Given the description of an element on the screen output the (x, y) to click on. 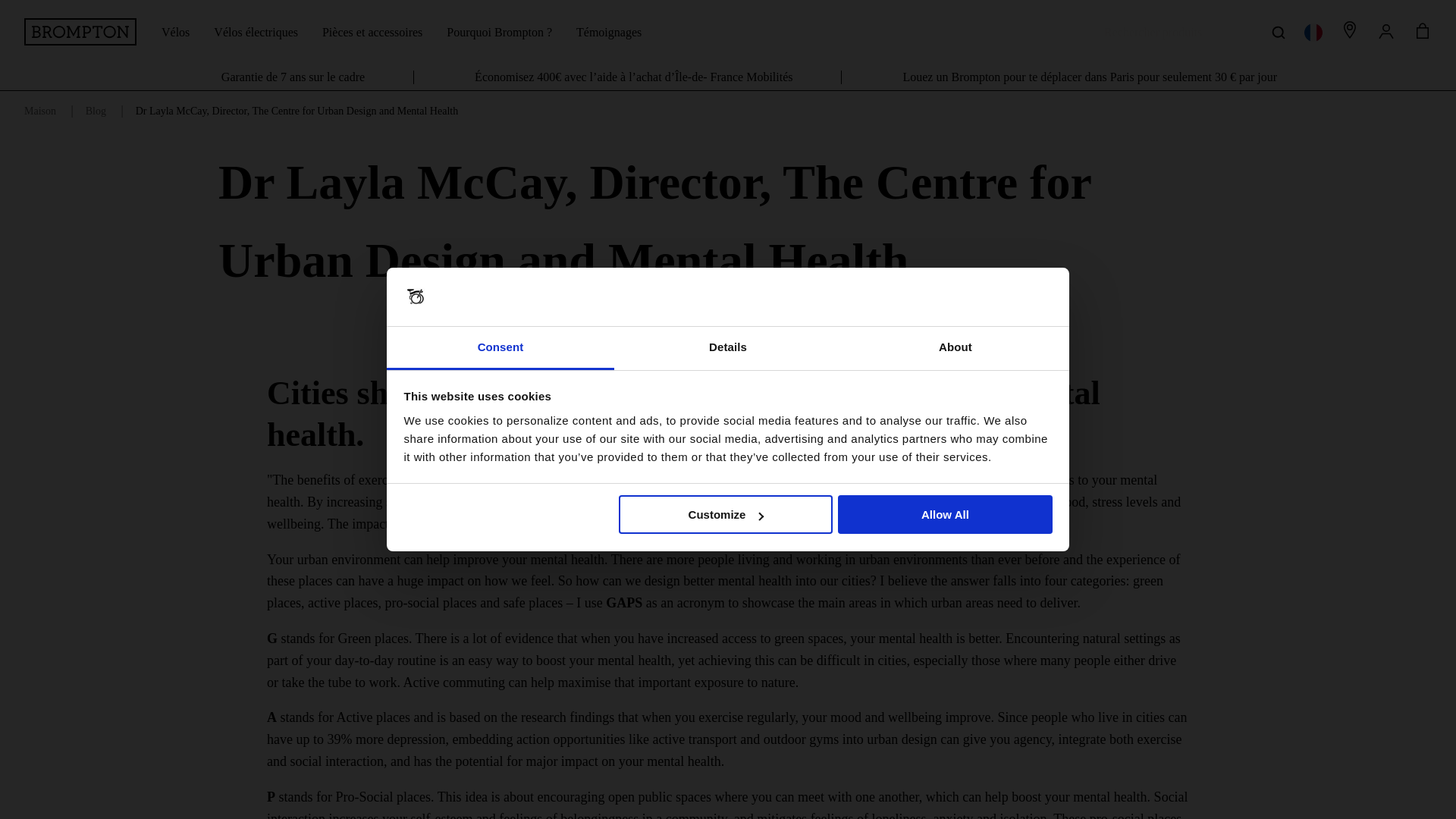
About (954, 348)
Consent (500, 348)
Details (727, 348)
